Given the description of an element on the screen output the (x, y) to click on. 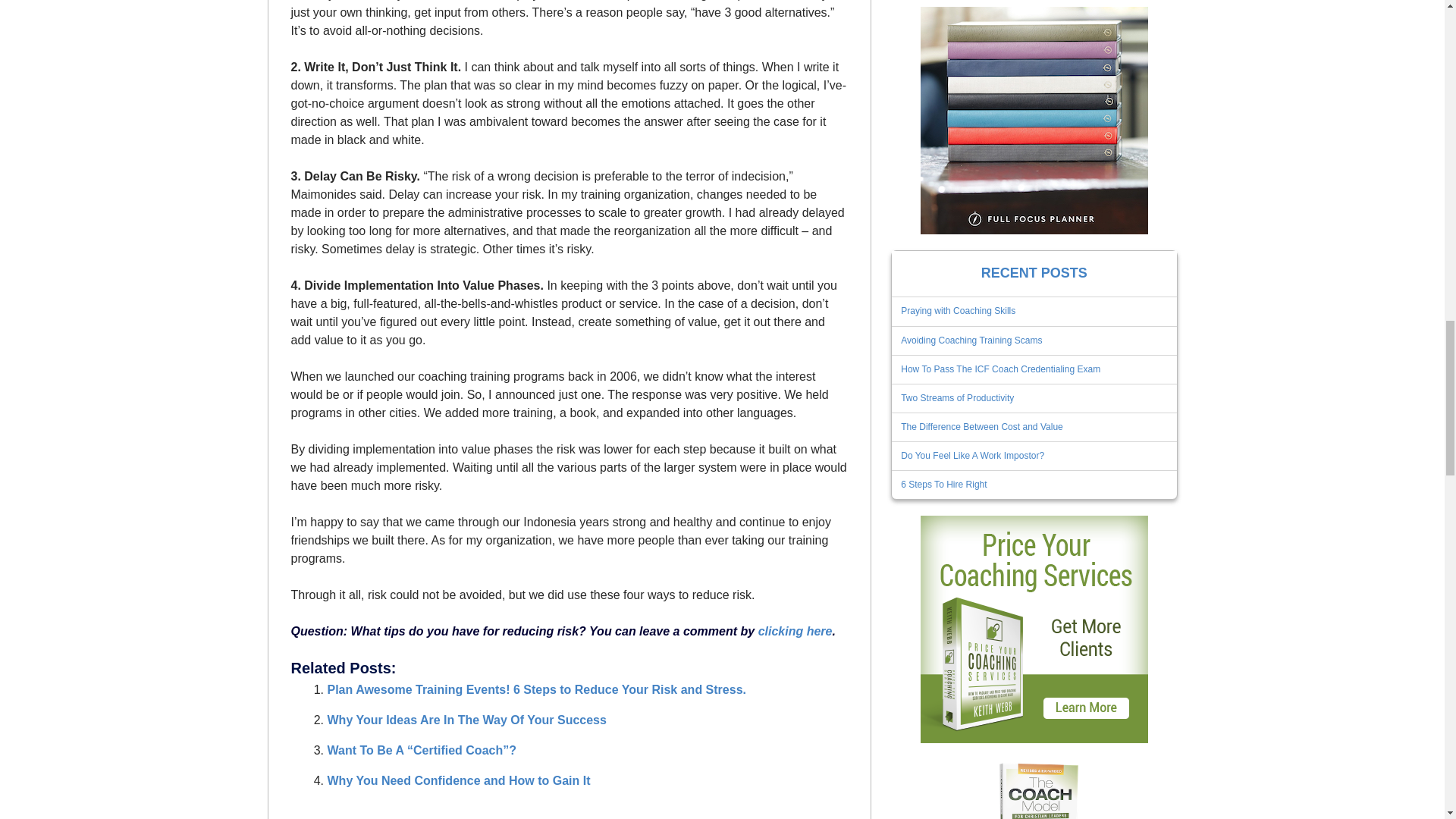
Why Your Ideas Are In The Way Of Your Success (467, 719)
Why Your Ideas Are In The Way Of Your Success (467, 719)
clicking here (795, 631)
Why You Need Confidence and How to Gain It (459, 780)
Why You Need Confidence and How to Gain It (459, 780)
